Given the description of an element on the screen output the (x, y) to click on. 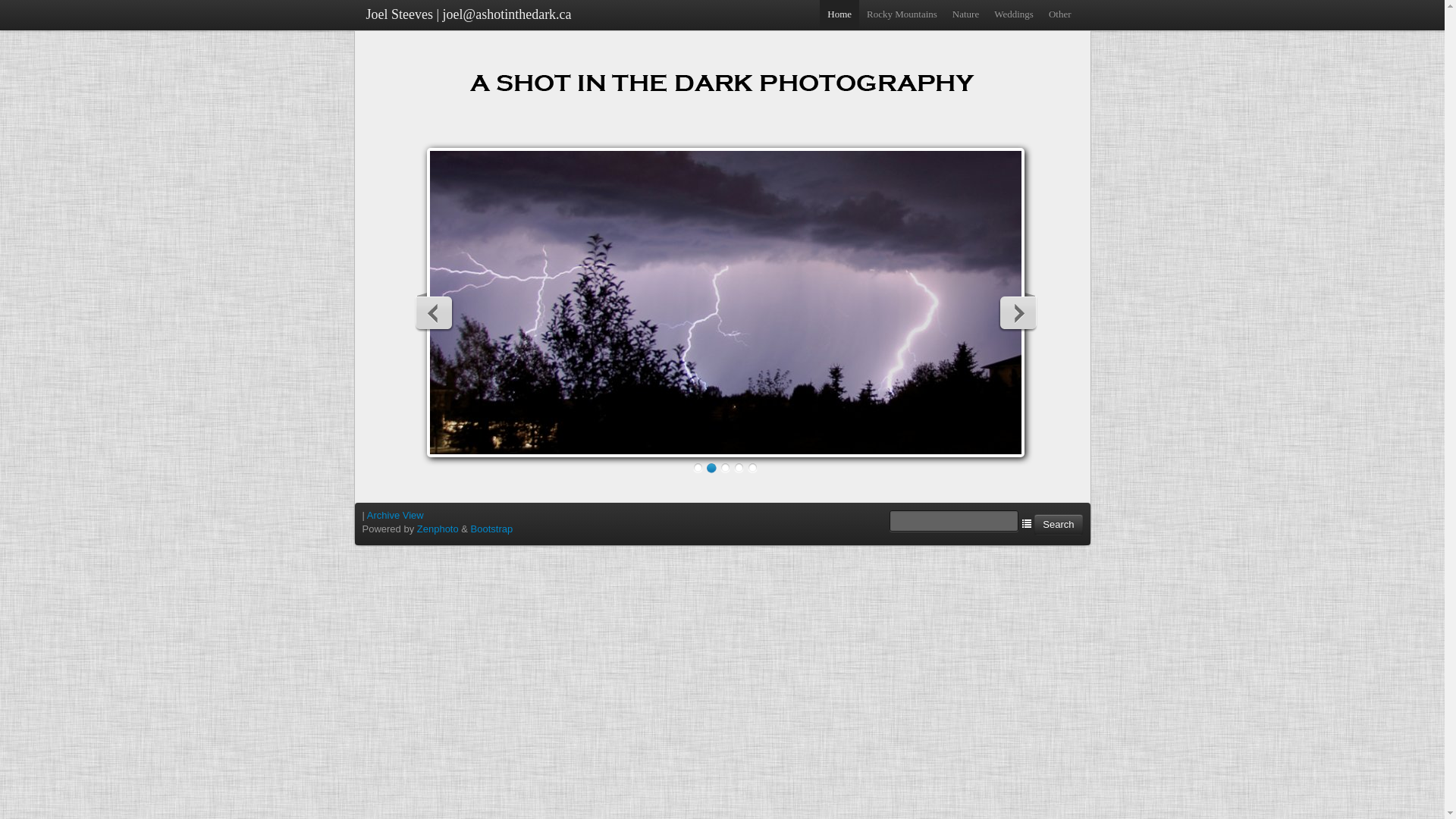
5 Element type: text (752, 468)
options de recherche Element type: hover (1026, 522)
Rocky Mountains Element type: text (901, 14)
Previous Element type: text (433, 312)
Archive View Element type: text (395, 514)
Bootstrap Element type: text (491, 528)
Zenphoto Element type: text (437, 528)
Search Element type: text (1058, 524)
Nature Element type: text (965, 14)
Next Element type: text (1017, 312)
Joel Steeves | joel@ashotinthedark.ca Element type: text (468, 14)
3 Element type: text (725, 468)
4 Element type: text (738, 468)
Other Element type: text (1060, 14)
2 Element type: text (711, 468)
Home Element type: text (839, 14)
Search Element type: hover (1058, 524)
1 Element type: text (697, 468)
Weddings Element type: text (1013, 14)
